Given the description of an element on the screen output the (x, y) to click on. 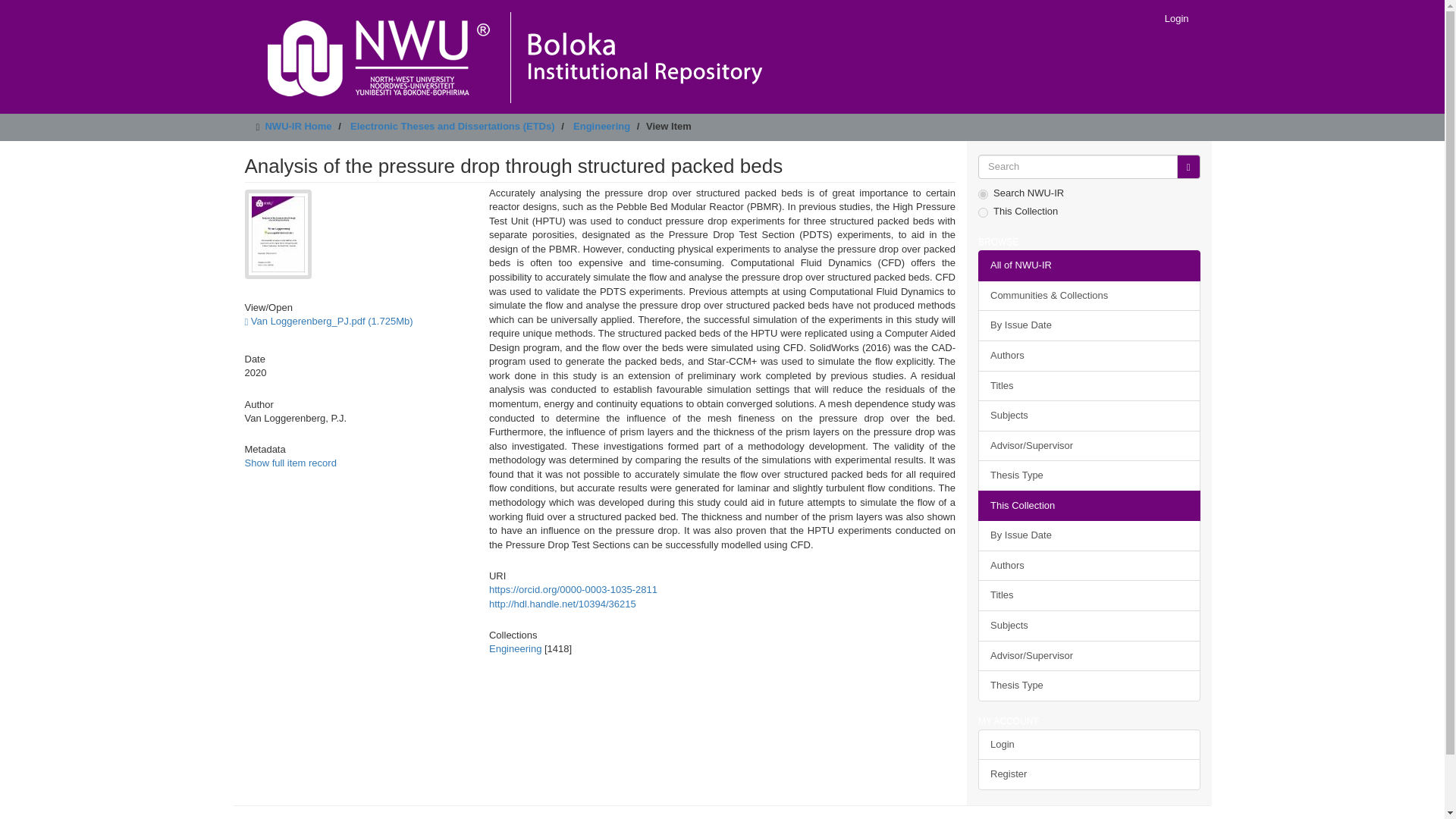
By Issue Date (1088, 325)
Subjects (1088, 625)
Authors (1088, 355)
Login (1176, 18)
Go (1187, 166)
Login (1088, 744)
This Collection (1088, 505)
Titles (1088, 385)
Engineering (515, 648)
All of NWU-IR (1088, 265)
